Given the description of an element on the screen output the (x, y) to click on. 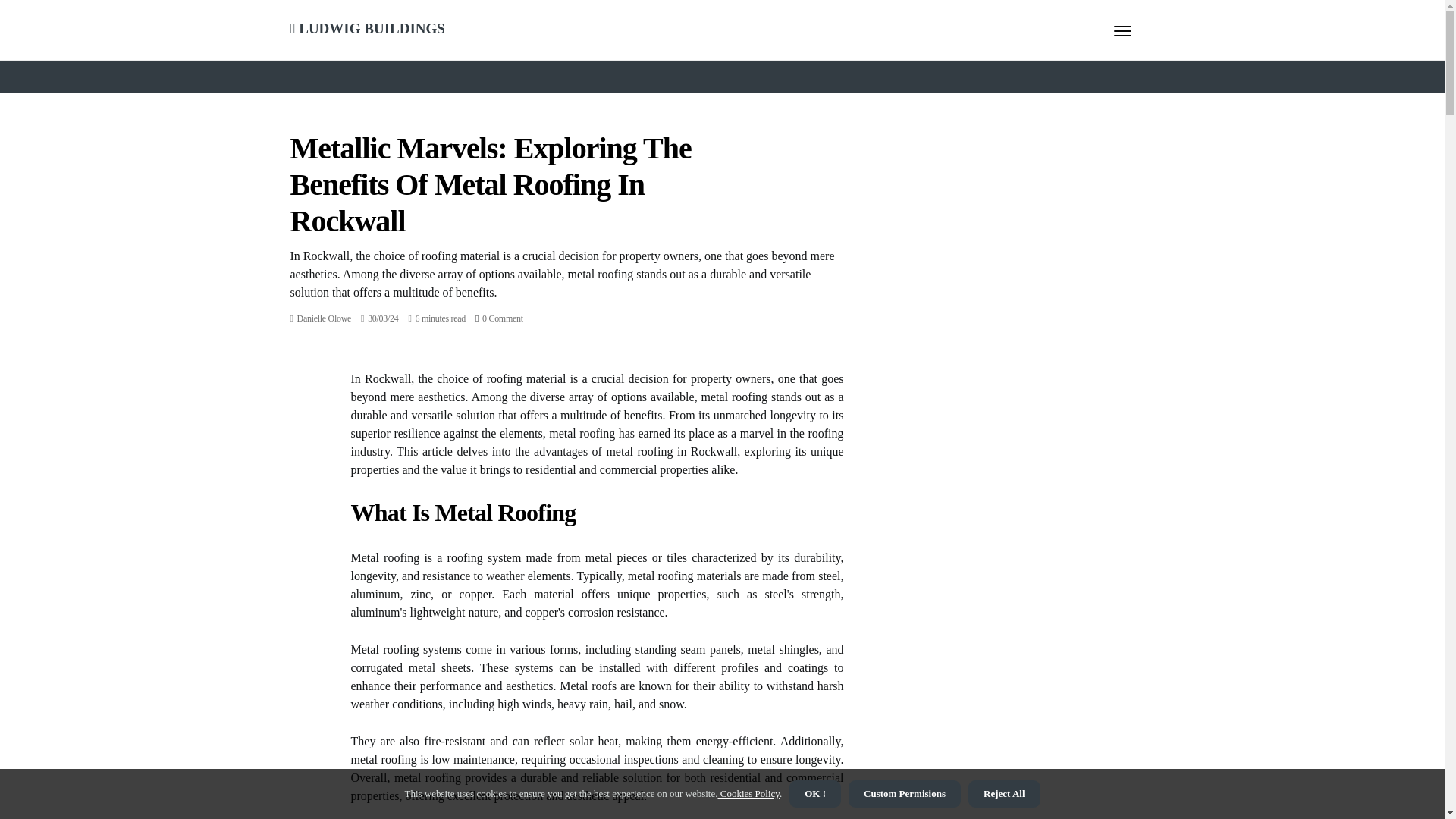
Posts by Danielle Olowe (323, 317)
Danielle Olowe (323, 317)
Ludwig Buildings (366, 26)
0 Comment (501, 317)
